Given the description of an element on the screen output the (x, y) to click on. 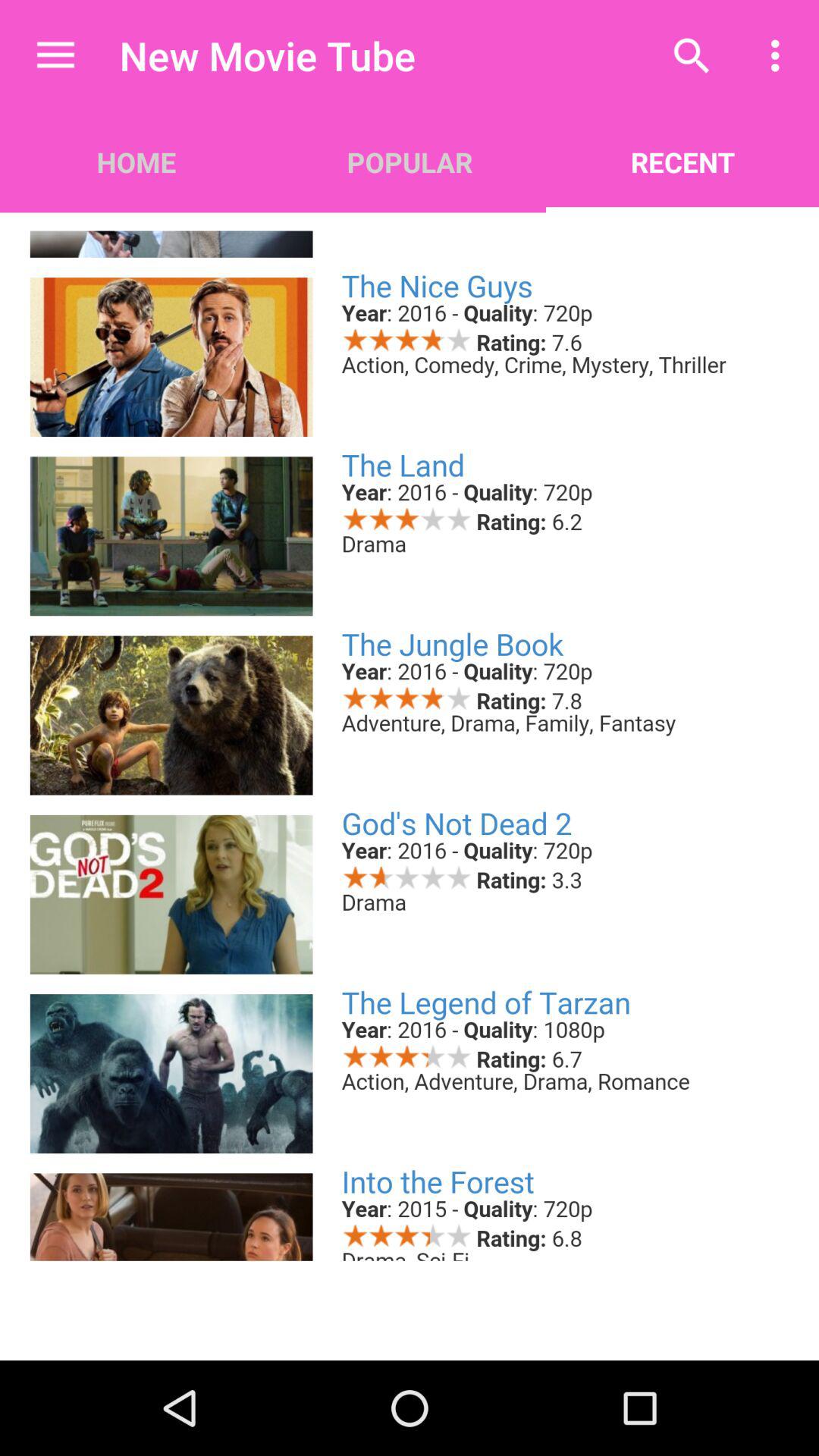
click page (409, 735)
